Given the description of an element on the screen output the (x, y) to click on. 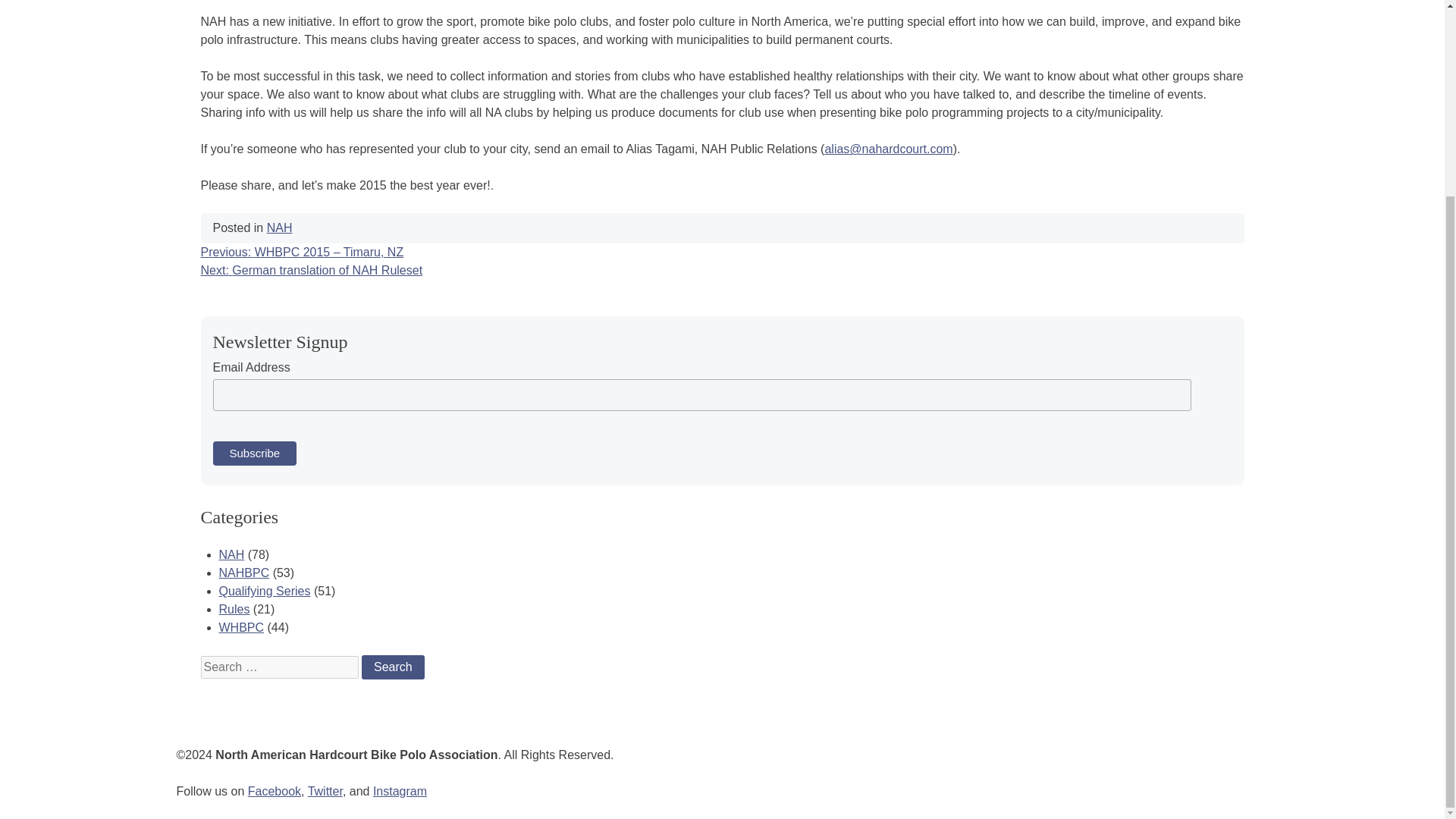
Facebook (274, 790)
Next: German translation of NAH Ruleset (311, 269)
Search (393, 667)
NAHBPC (243, 572)
WHBPC (240, 626)
Search (393, 667)
Subscribe (254, 453)
Search (393, 667)
Instagram (399, 790)
Subscribe (254, 453)
